Given the description of an element on the screen output the (x, y) to click on. 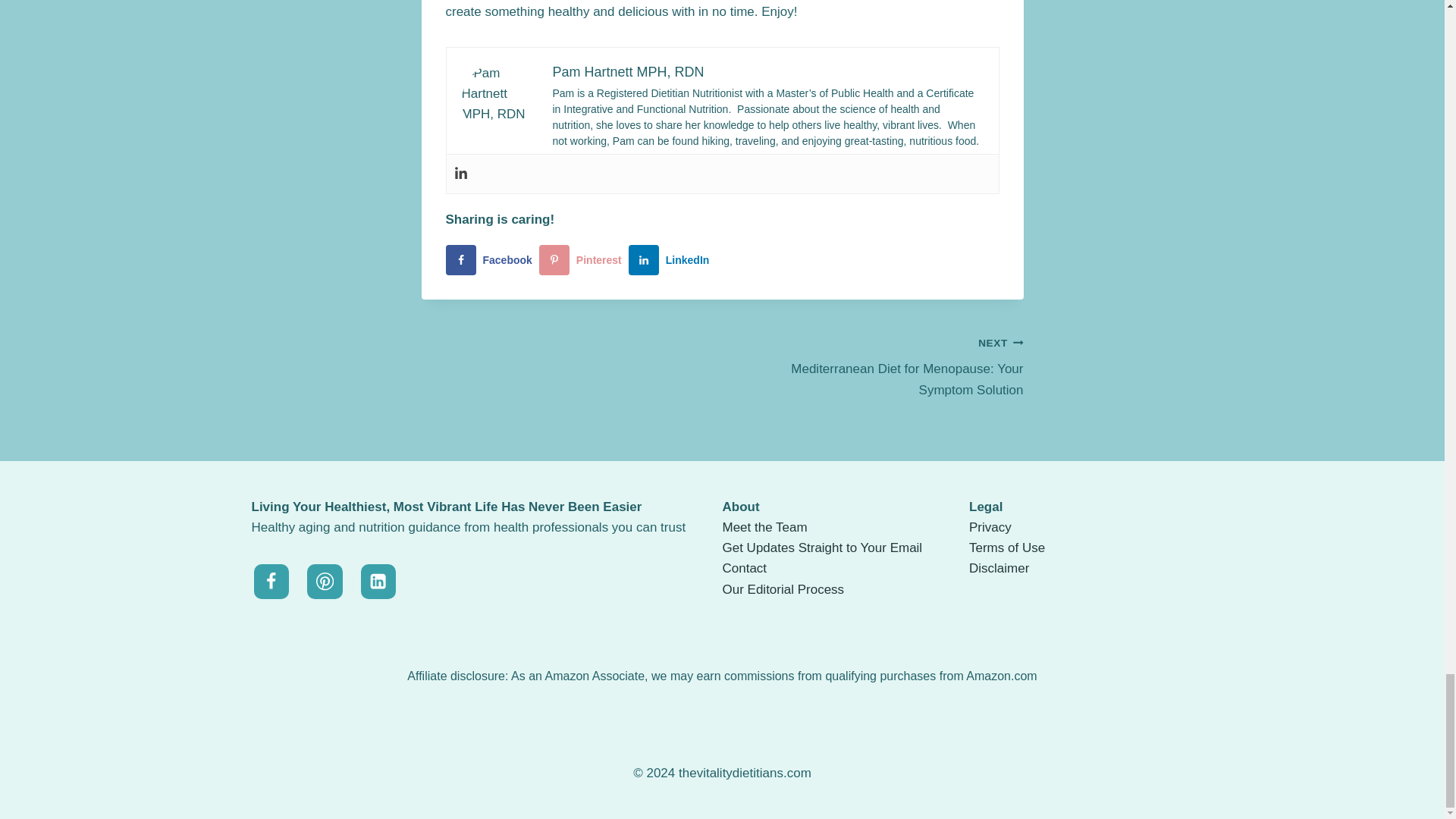
Save to Pinterest (583, 259)
Our Editorial Process (783, 589)
Pam Hartnett MPH, RDN (627, 71)
Contact (872, 366)
Get Updates Straight to Your Email (744, 568)
Terms of Use (821, 547)
LinkedIn (1007, 547)
Meet the Team (672, 259)
Disclaimer (764, 527)
Share on Facebook (999, 568)
Share on LinkedIn (491, 259)
Privacy (672, 259)
Pinterest (990, 527)
Facebook (583, 259)
